Given the description of an element on the screen output the (x, y) to click on. 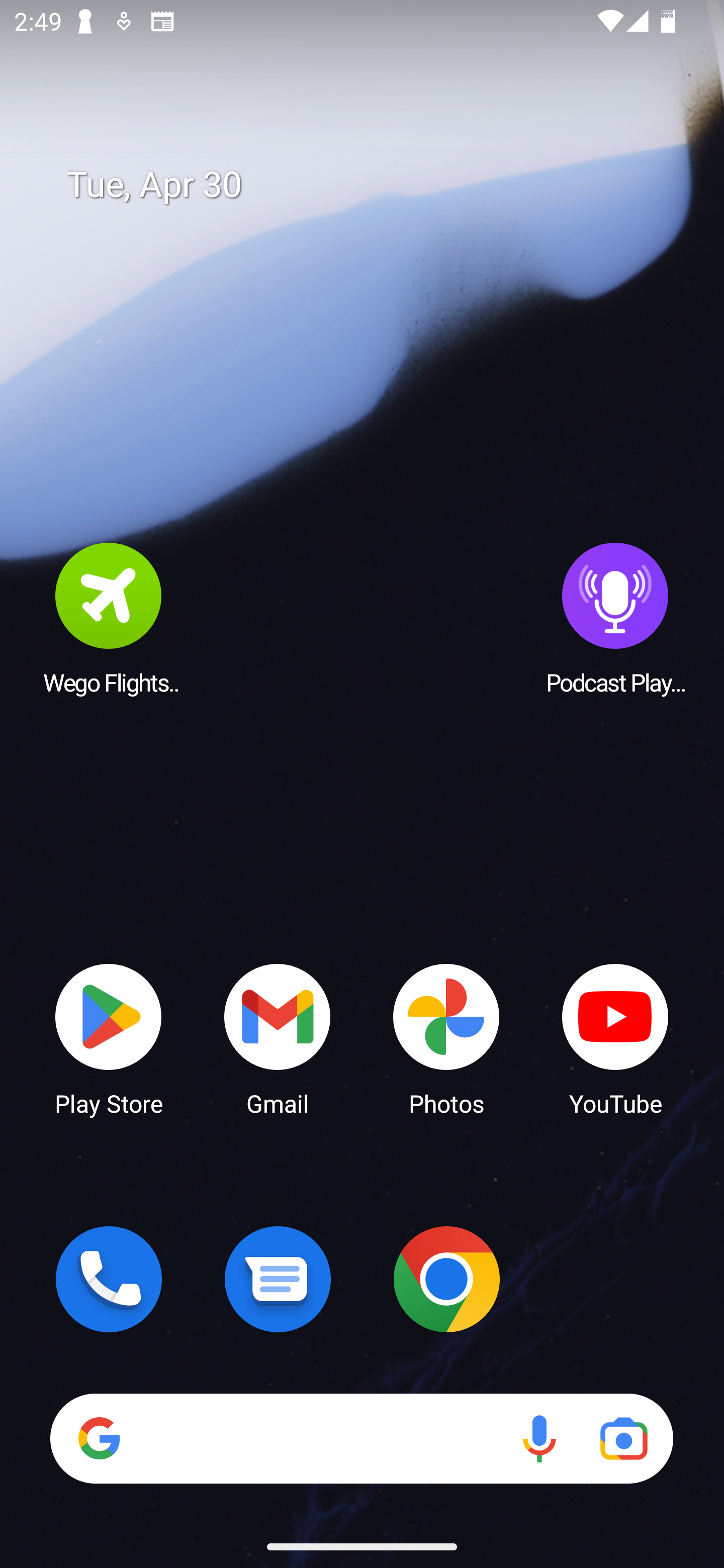
Tue, Apr 30 (375, 184)
Wego Flights & Hotels (108, 617)
Podcast Player (615, 617)
Play Store (108, 1038)
Gmail (277, 1038)
Photos (445, 1038)
YouTube (615, 1038)
Phone (108, 1279)
Messages (277, 1279)
Chrome (446, 1279)
Voice search (539, 1438)
Google Lens (623, 1438)
